Given the description of an element on the screen output the (x, y) to click on. 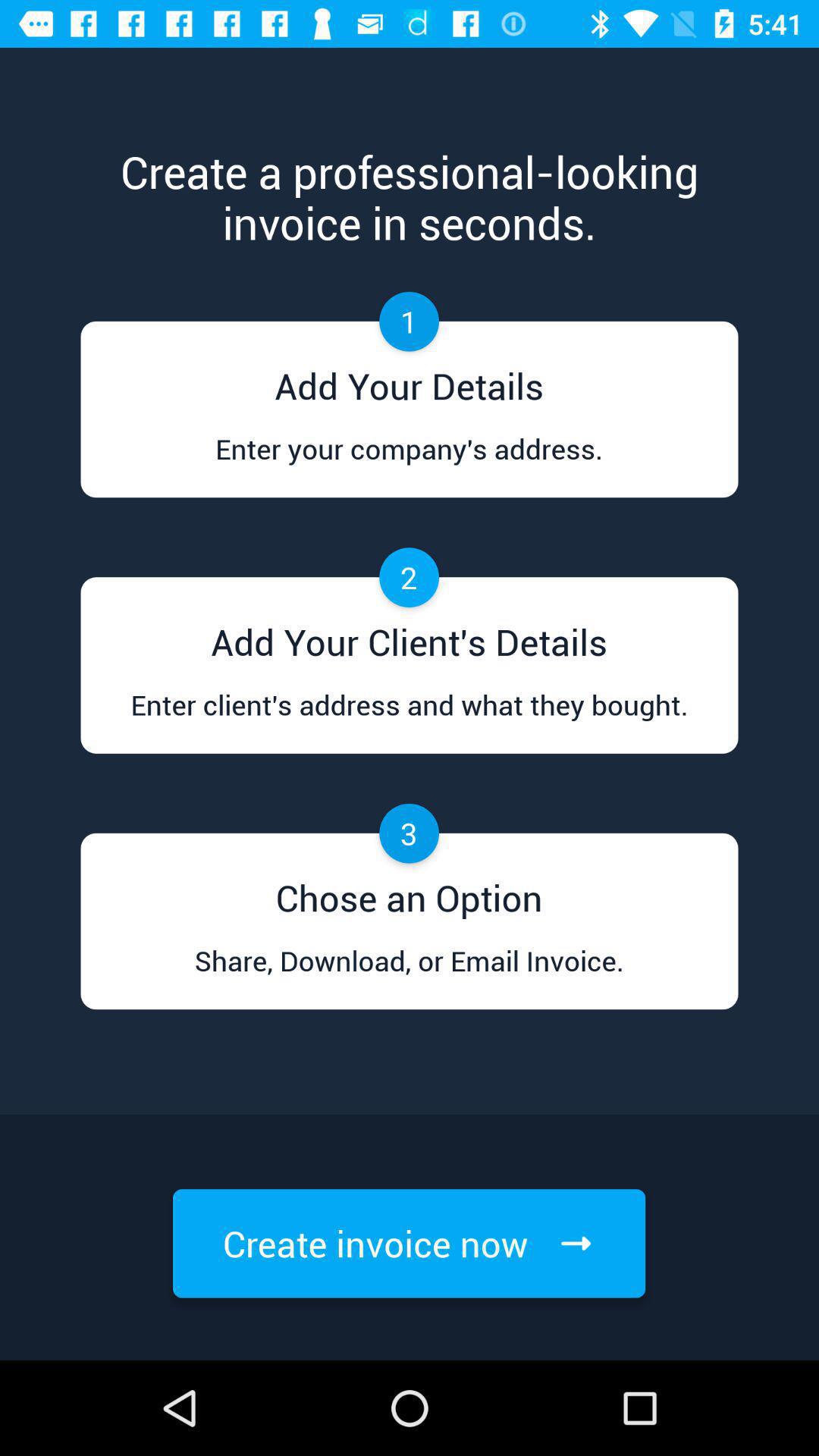
open icon above 2 icon (408, 463)
